Given the description of an element on the screen output the (x, y) to click on. 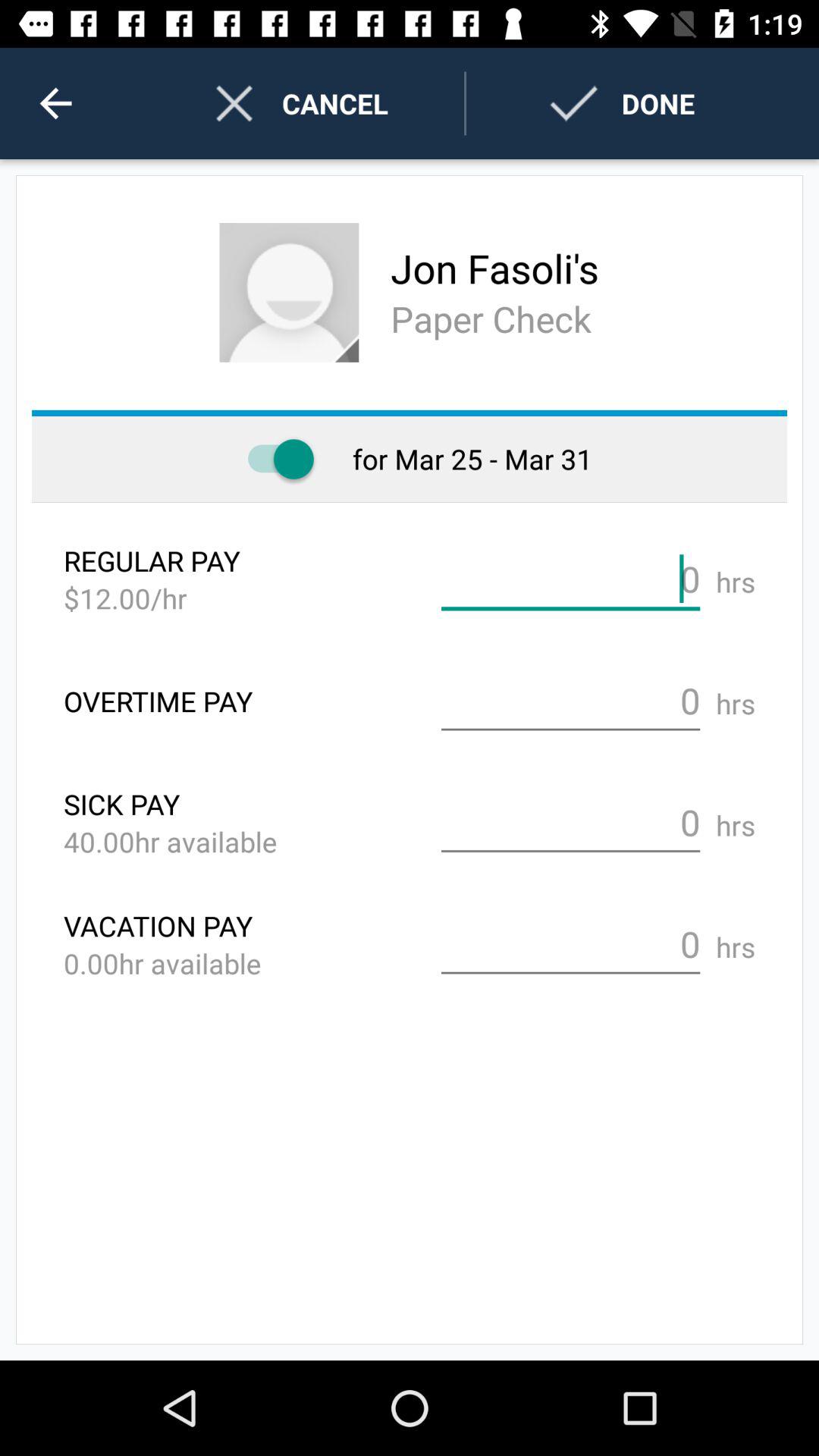
toggle paycheck button (273, 459)
